Given the description of an element on the screen output the (x, y) to click on. 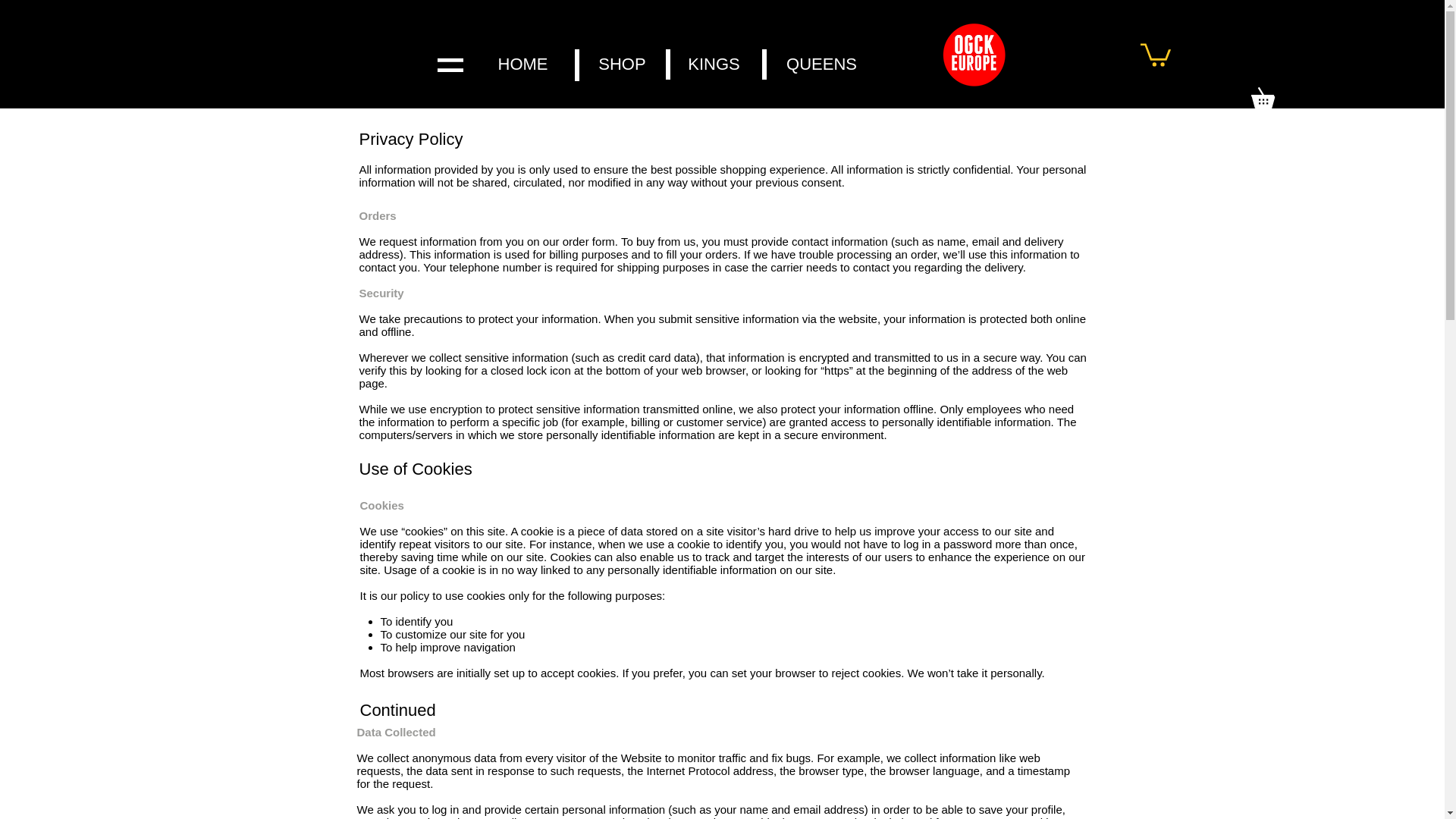
SHOP (621, 64)
KINGS (713, 64)
HOME (522, 64)
QUEENS (821, 64)
ogckeurope web button.png (976, 59)
